Given the description of an element on the screen output the (x, y) to click on. 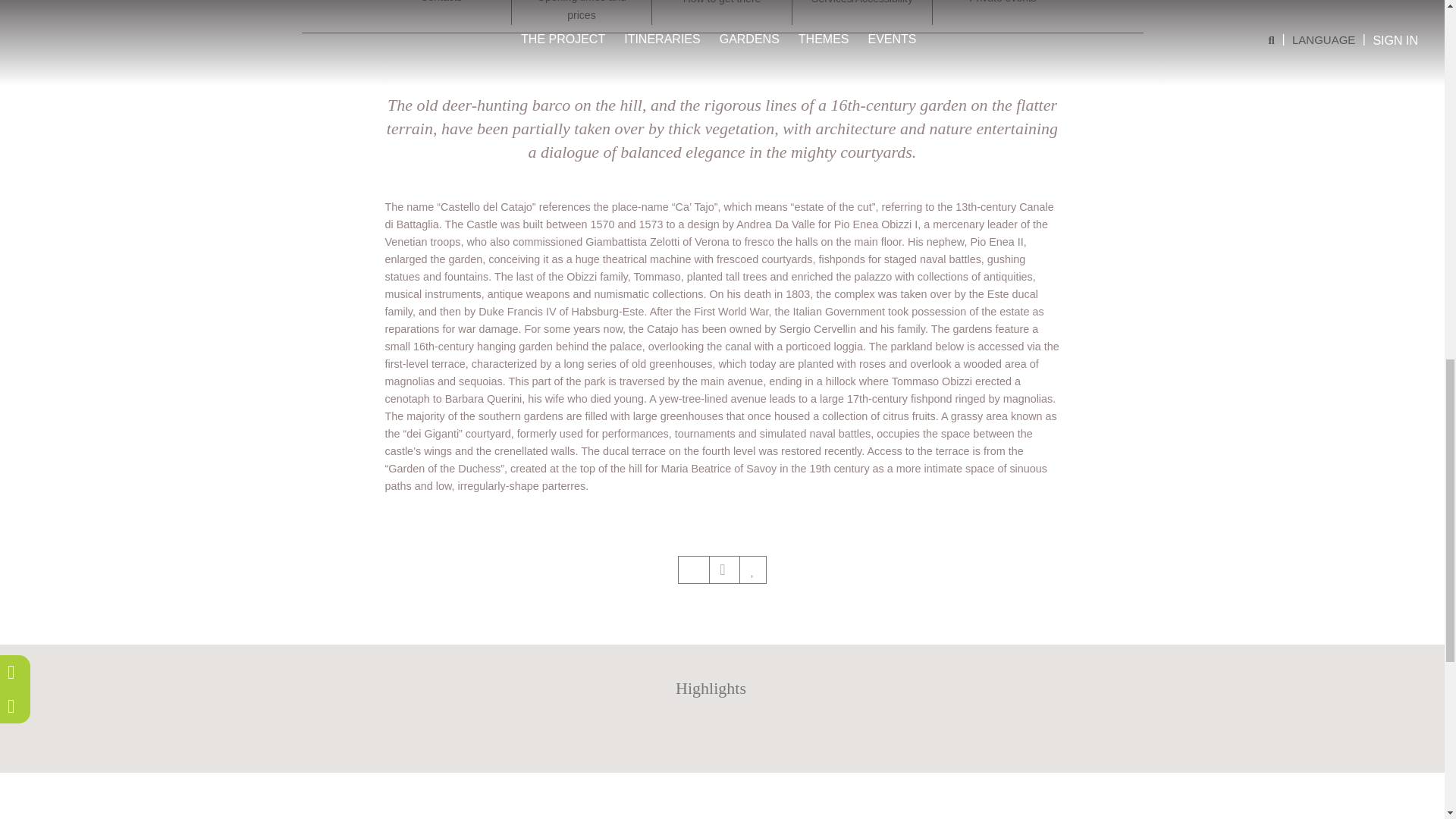
Private events (1002, 3)
Contacts (440, 3)
Opening times and prices (581, 12)
How to get there (721, 4)
